Given the description of an element on the screen output the (x, y) to click on. 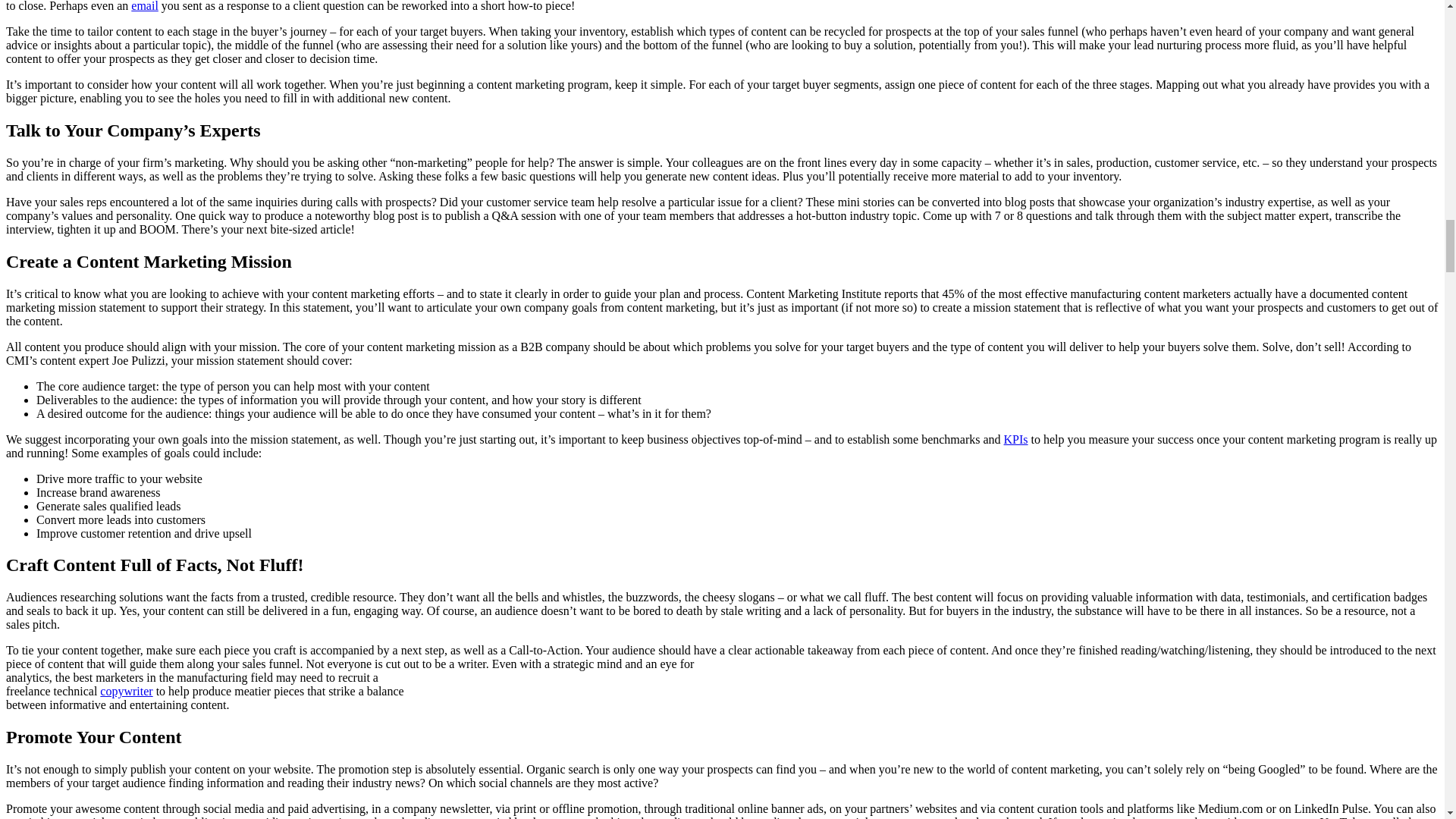
email (144, 6)
copywriter (126, 690)
KPIs (1015, 438)
